Given the description of an element on the screen output the (x, y) to click on. 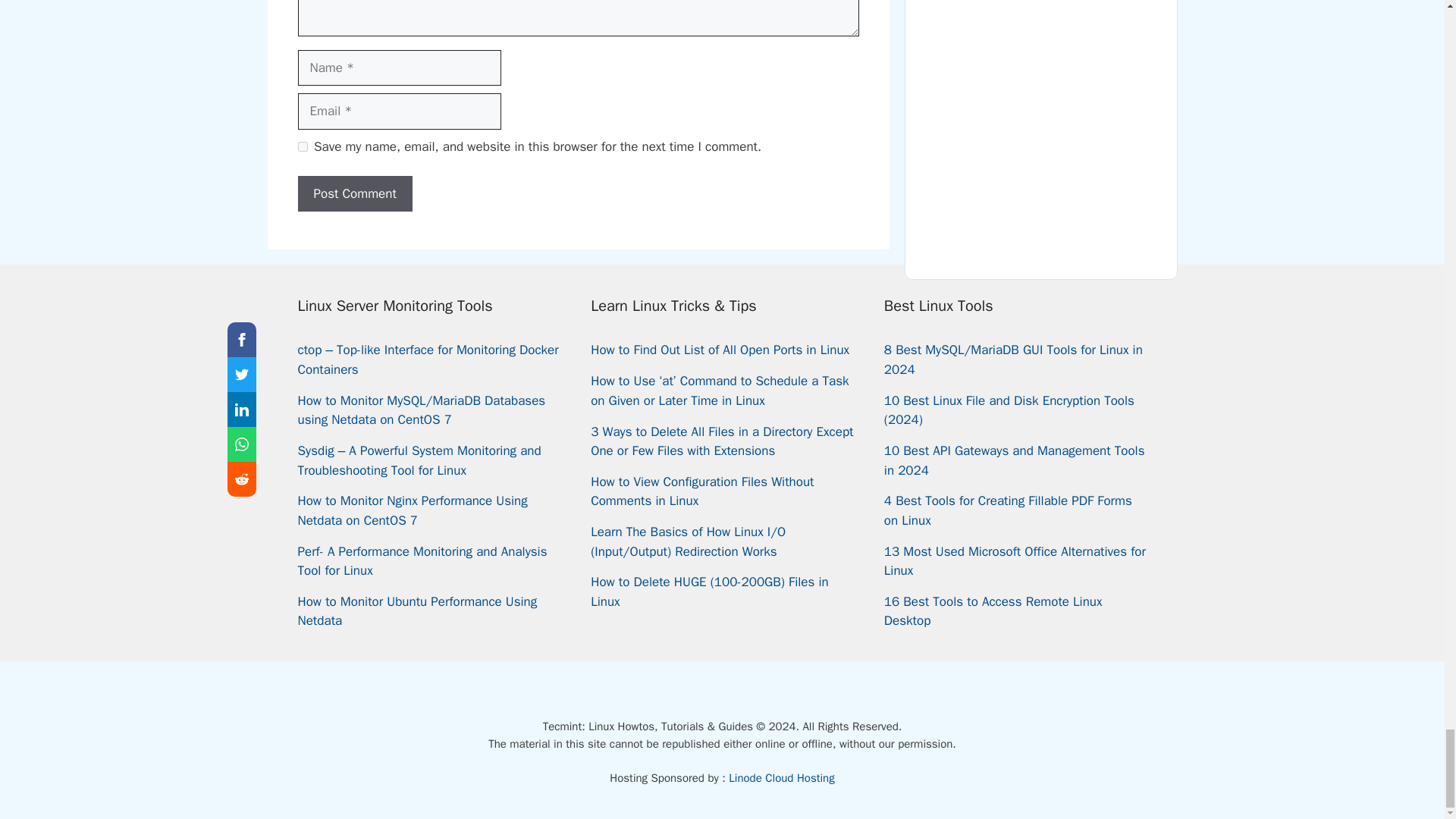
Post Comment (354, 194)
yes (302, 146)
